Given the description of an element on the screen output the (x, y) to click on. 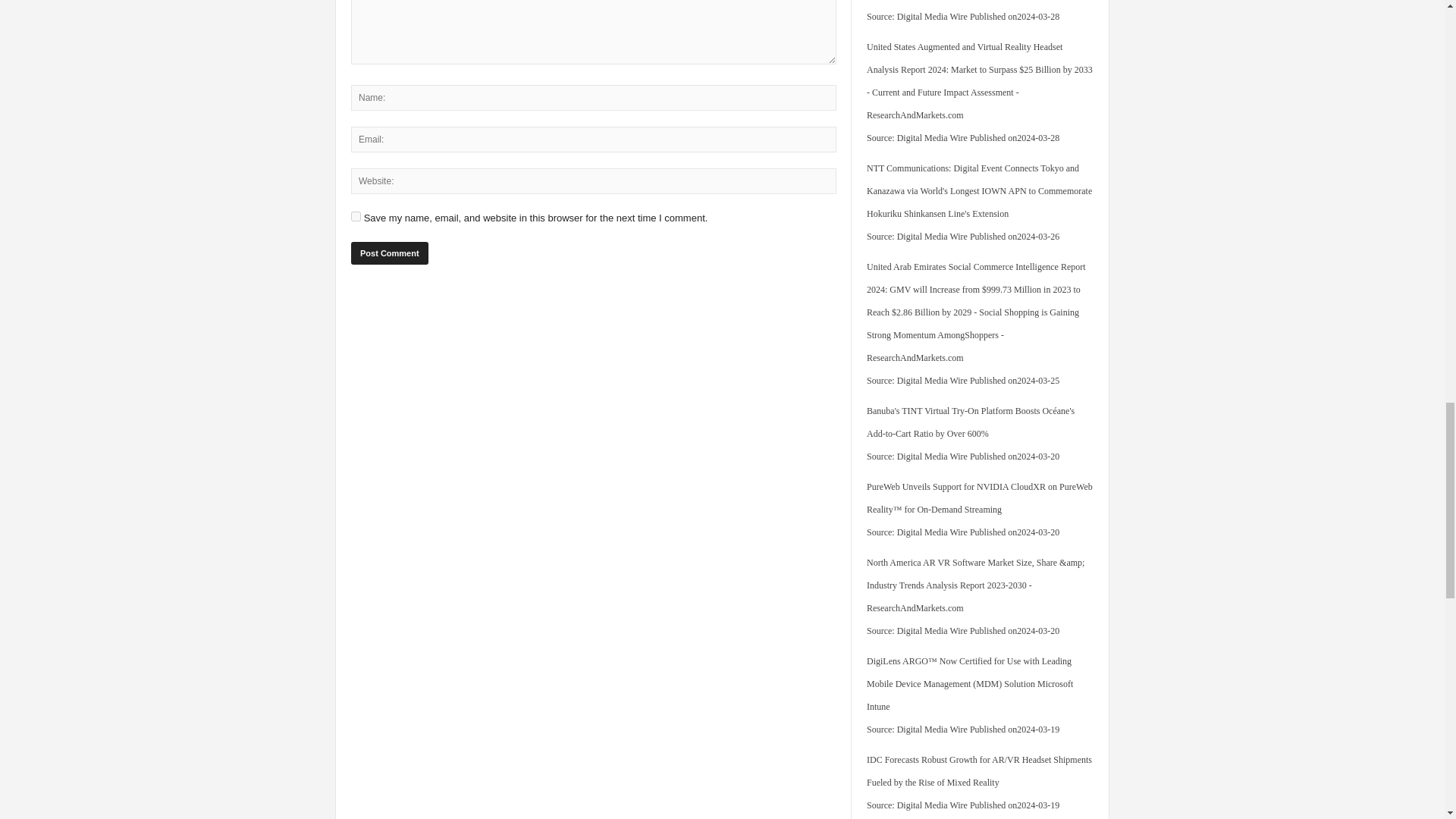
yes (355, 216)
Post Comment (389, 252)
